Given the description of an element on the screen output the (x, y) to click on. 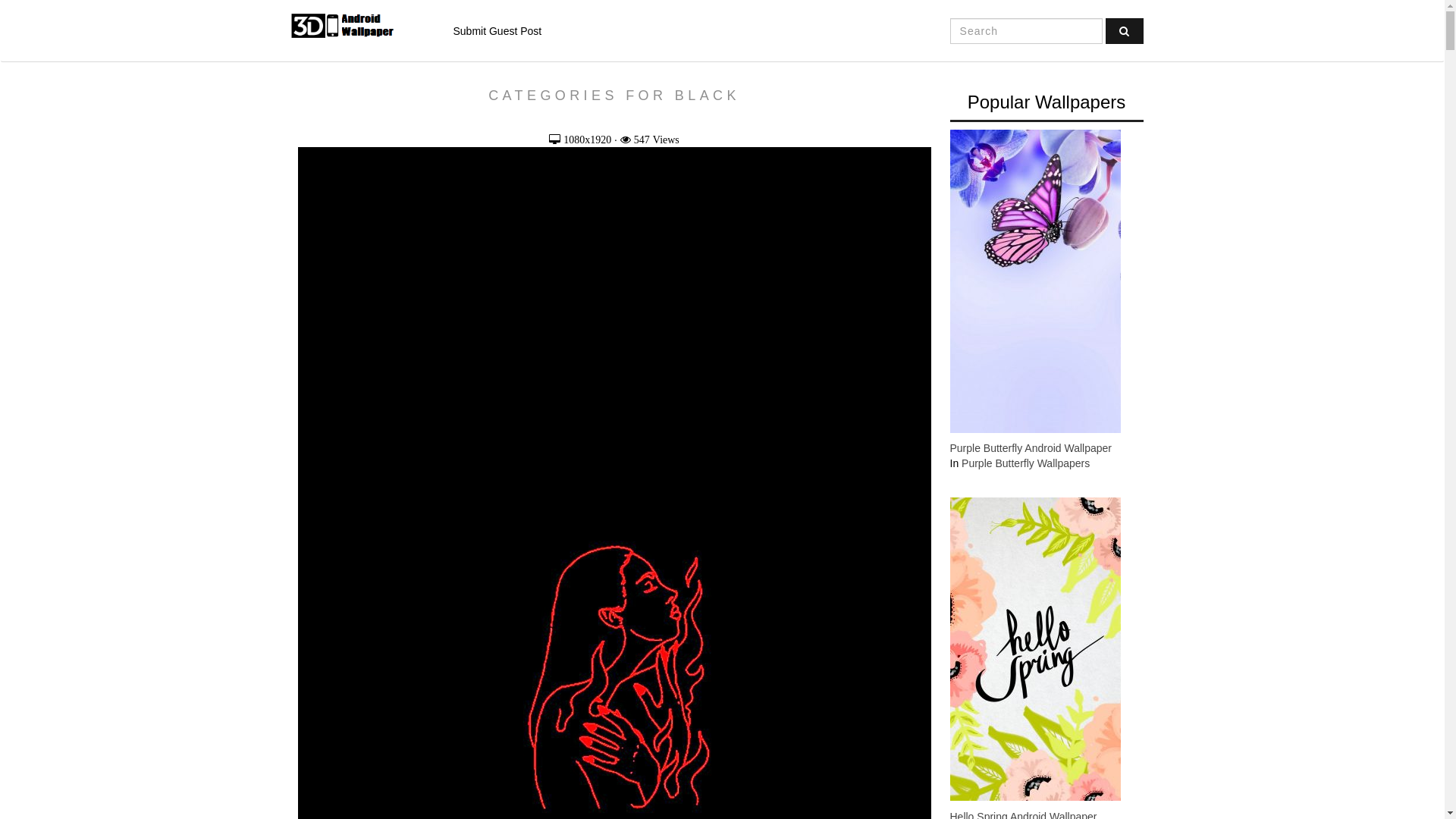
Search for: Element type: hover (1026, 30)
Android Wallpaper HD Black Aesthetic Element type: hover (613, 710)
Submit Guest Post Element type: text (496, 30)
Android Wallpapers Element type: hover (359, 25)
Purple Butterfly Wallpapers Element type: text (1025, 463)
Purple Butterfly Android Wallpaper Element type: text (1029, 448)
